Given the description of an element on the screen output the (x, y) to click on. 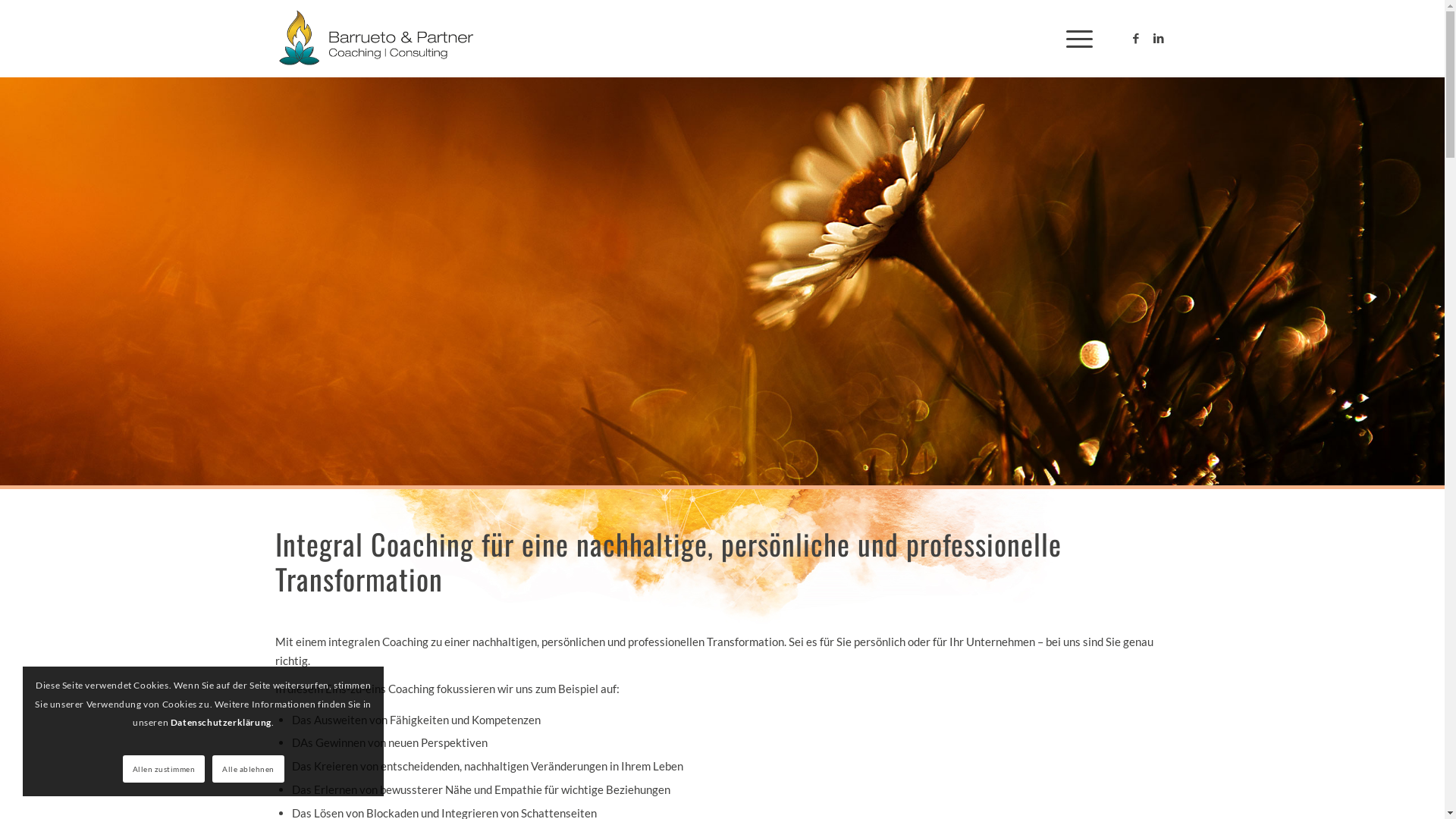
Facebook Element type: hover (1134, 37)
LinkedIn Element type: hover (1157, 37)
Barrueto & Partner Element type: hover (375, 38)
Allen zustimmen Element type: text (163, 768)
Alle ablehnen Element type: text (248, 768)
